Given the description of an element on the screen output the (x, y) to click on. 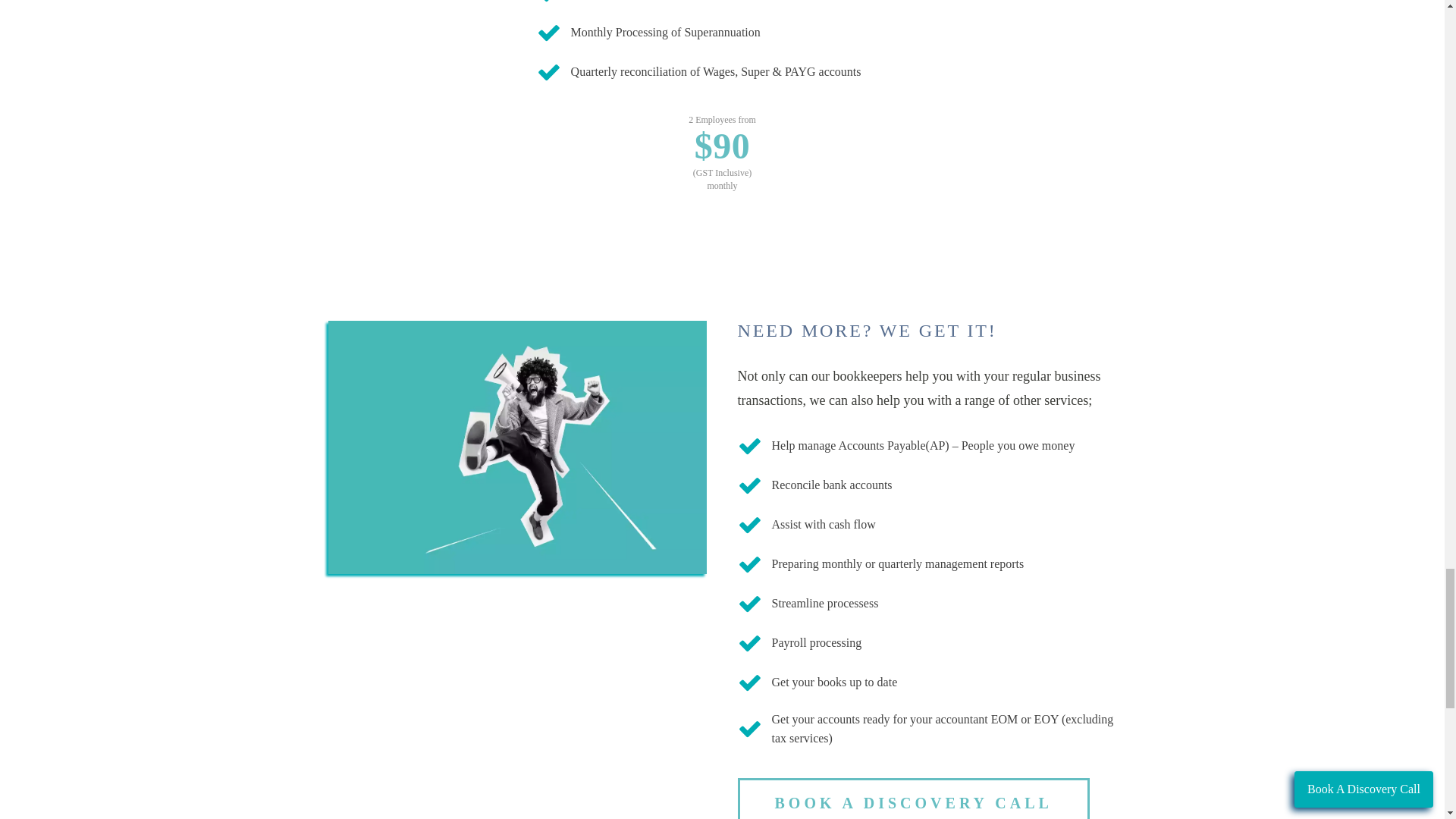
BOOK A DISCOVERY CALL (912, 798)
